Given the description of an element on the screen output the (x, y) to click on. 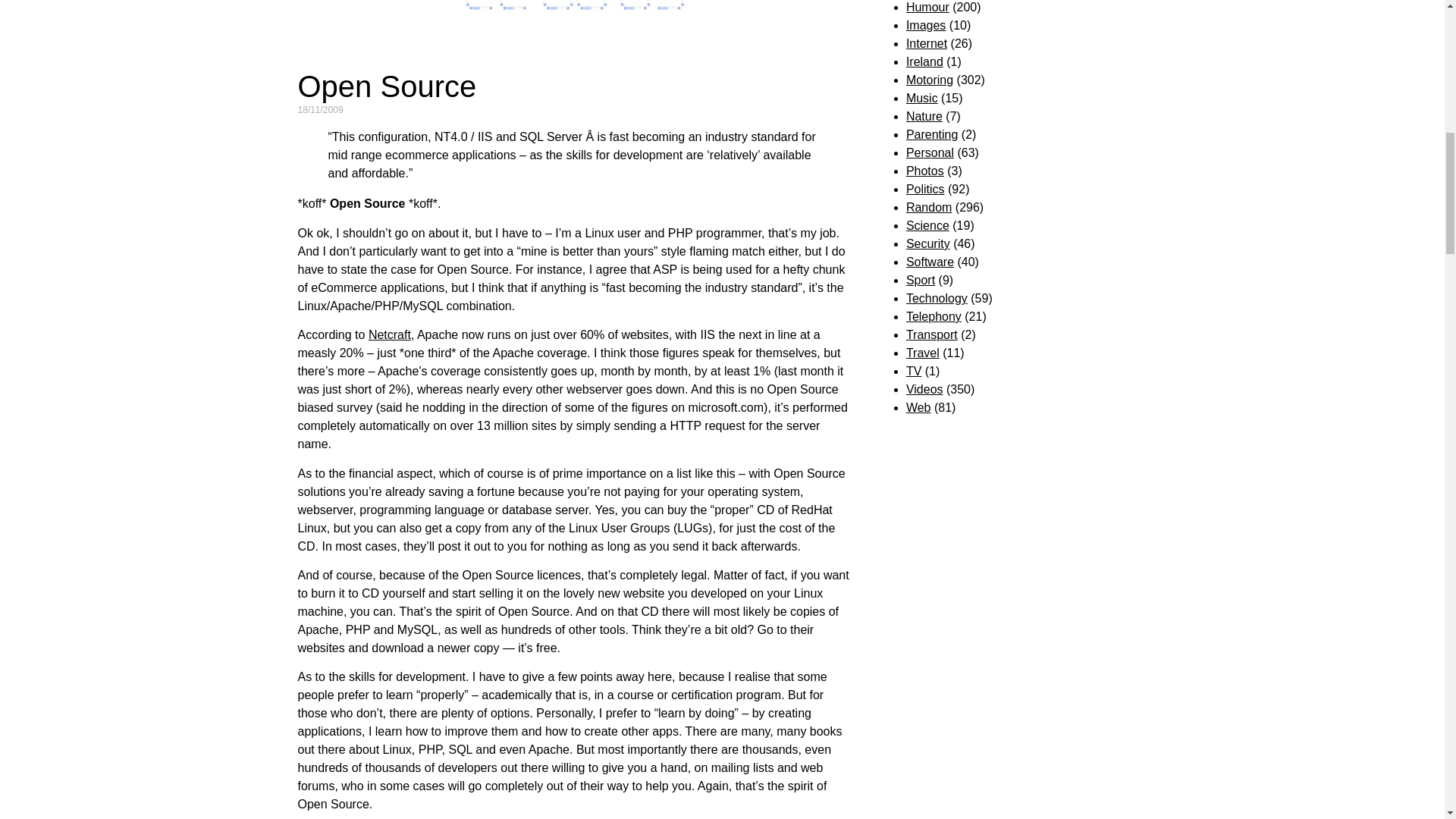
Netcraft (389, 334)
scrollclock (574, 7)
Open Source (386, 86)
